Given the description of an element on the screen output the (x, y) to click on. 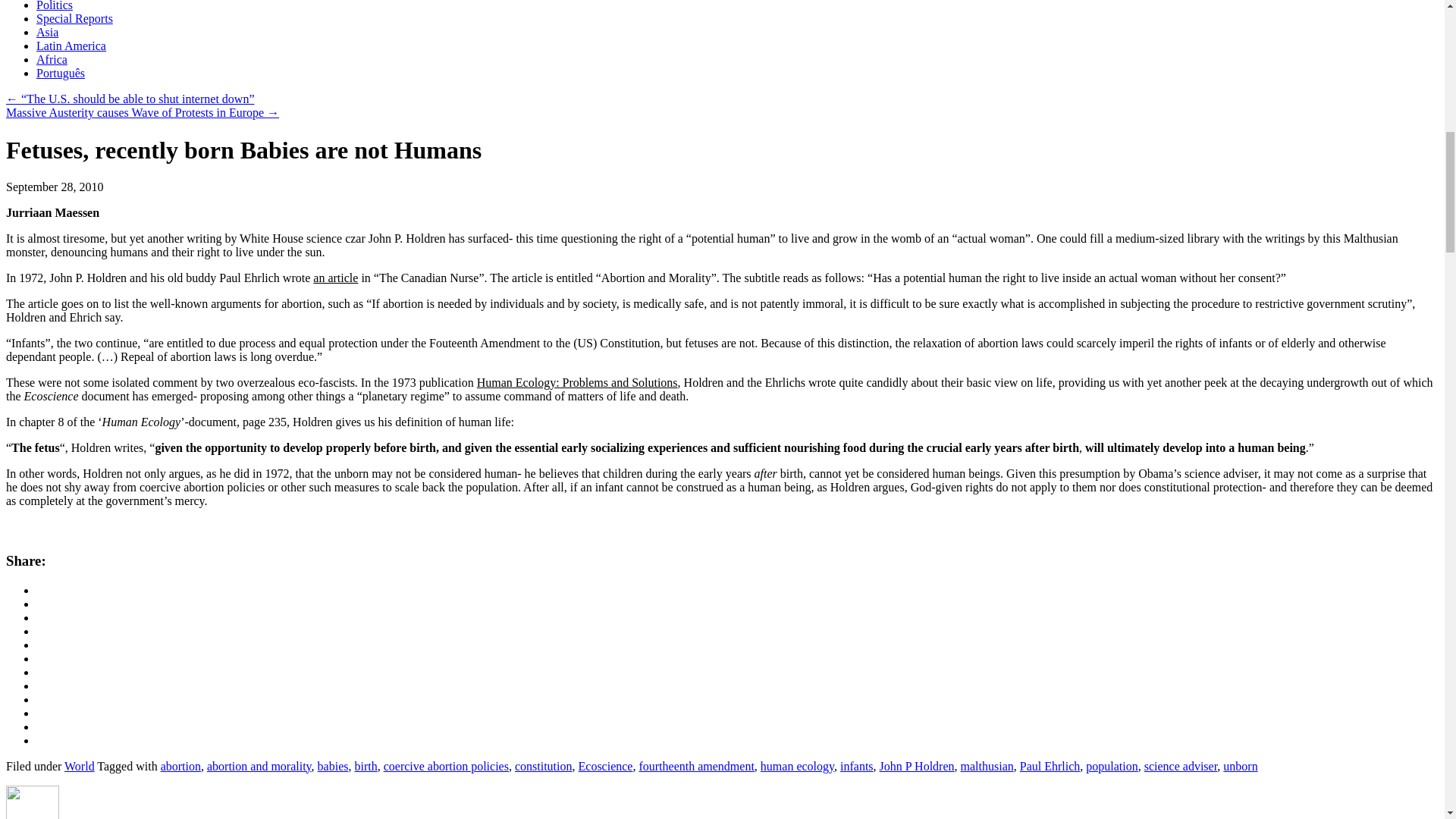
View all posts filed under Politics (54, 5)
View all posts filed under Asia (47, 31)
View all posts filed under Special Reports (74, 18)
